Given the description of an element on the screen output the (x, y) to click on. 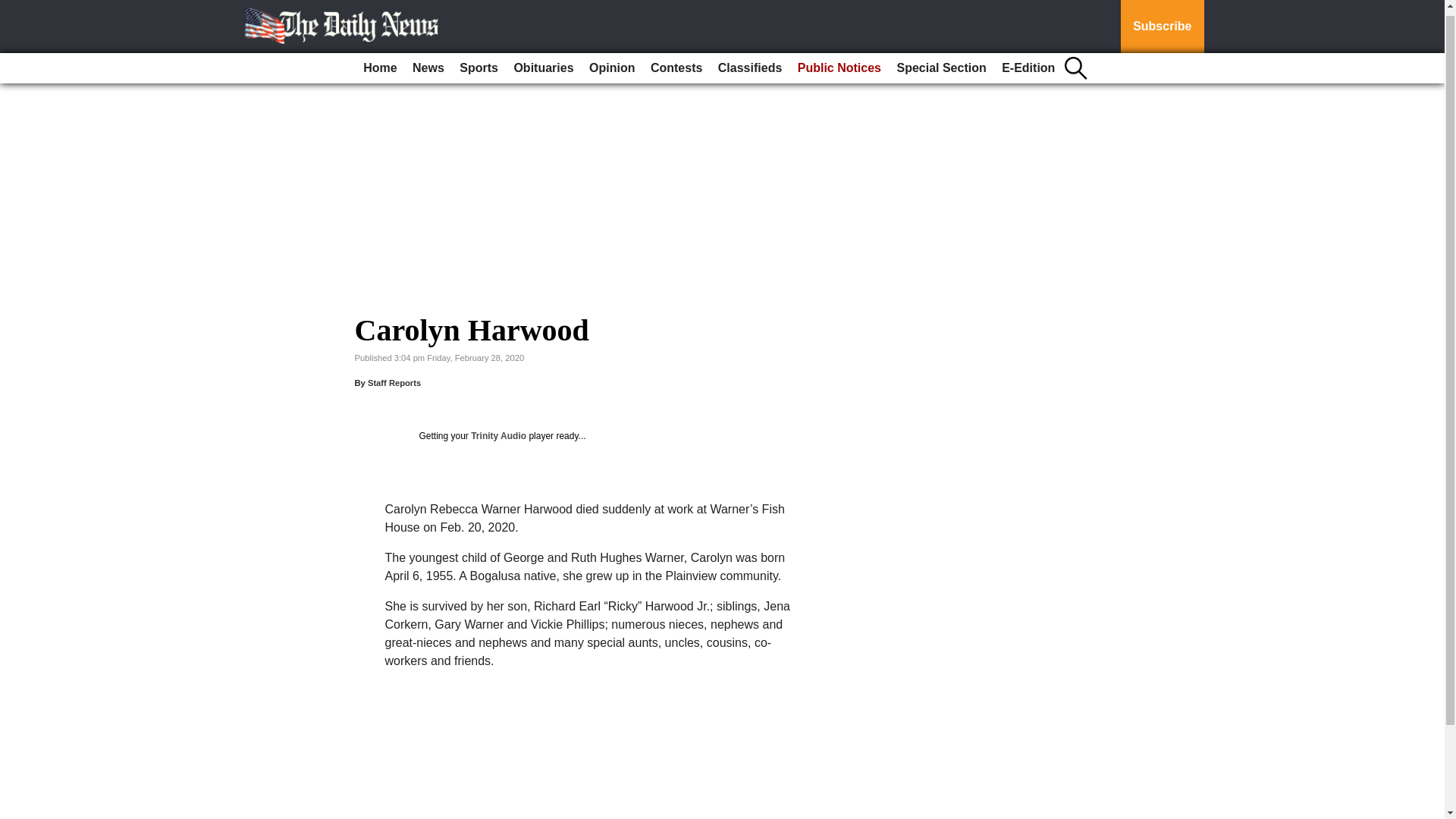
Sports (477, 62)
News (427, 62)
E-Edition (1028, 62)
Public Notices (839, 62)
Go (13, 6)
Staff Reports (394, 382)
Classifieds (749, 62)
Trinity Audio (497, 435)
Obituaries (542, 62)
Home (379, 62)
